Given the description of an element on the screen output the (x, y) to click on. 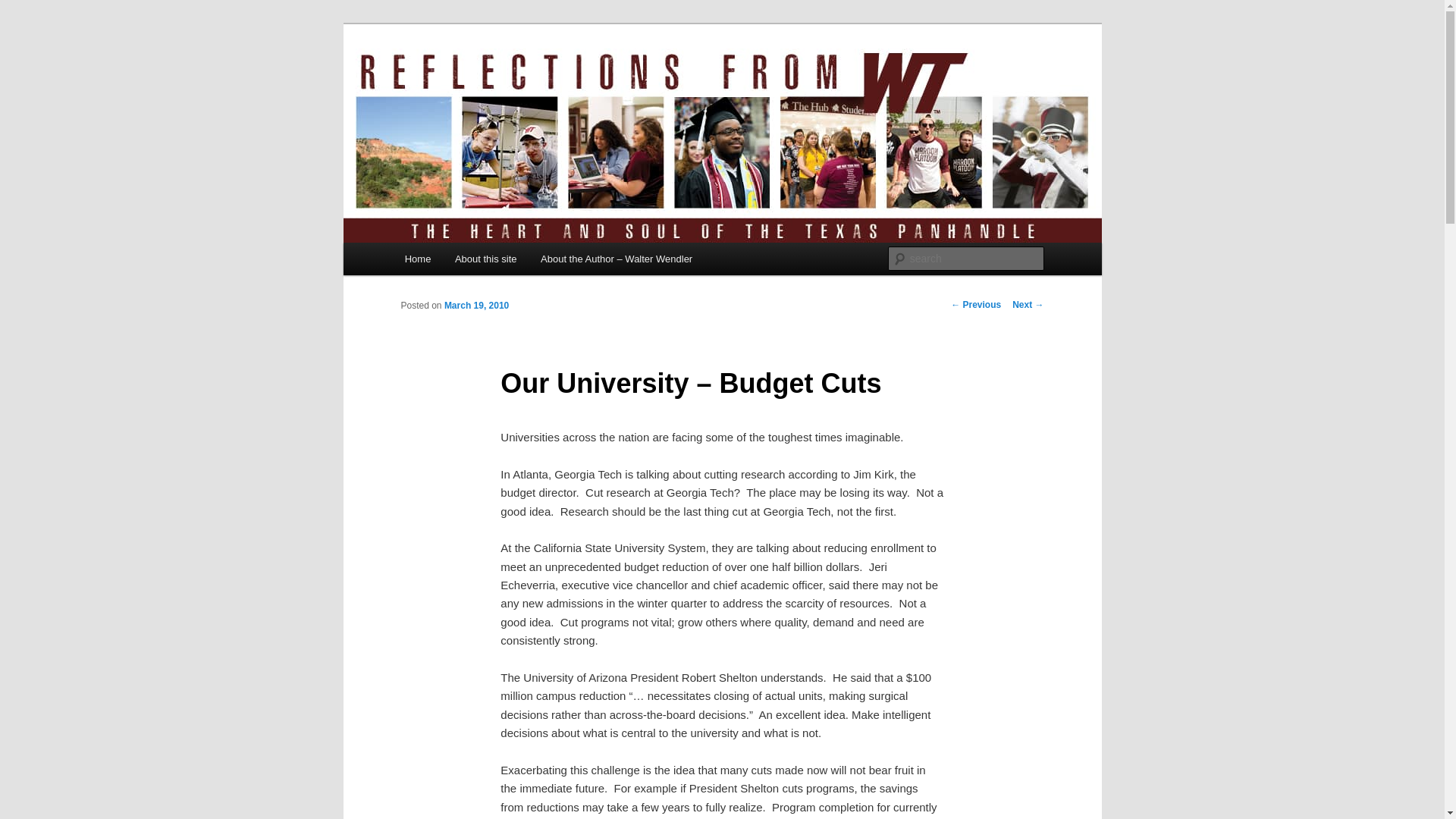
About this site (485, 258)
Search (24, 8)
Home (417, 258)
7:15 am (476, 305)
Reflections On Higher Education (577, 78)
March 19, 2010 (476, 305)
